Given the description of an element on the screen output the (x, y) to click on. 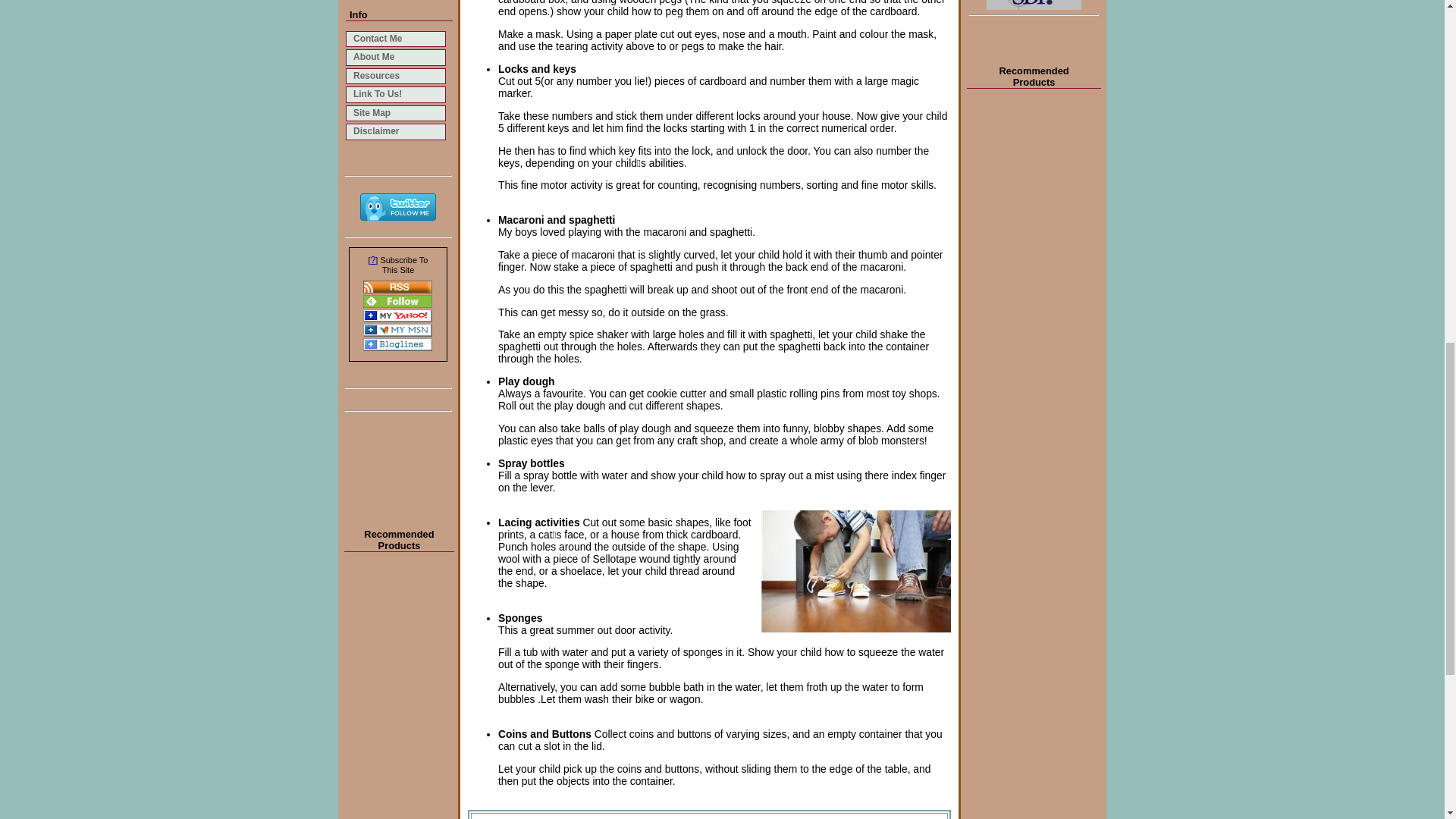
Link To Us! (395, 94)
Resources (395, 76)
Contact Me (395, 38)
Site Map (395, 113)
Disclaimer (395, 131)
About Me (395, 57)
